Given the description of an element on the screen output the (x, y) to click on. 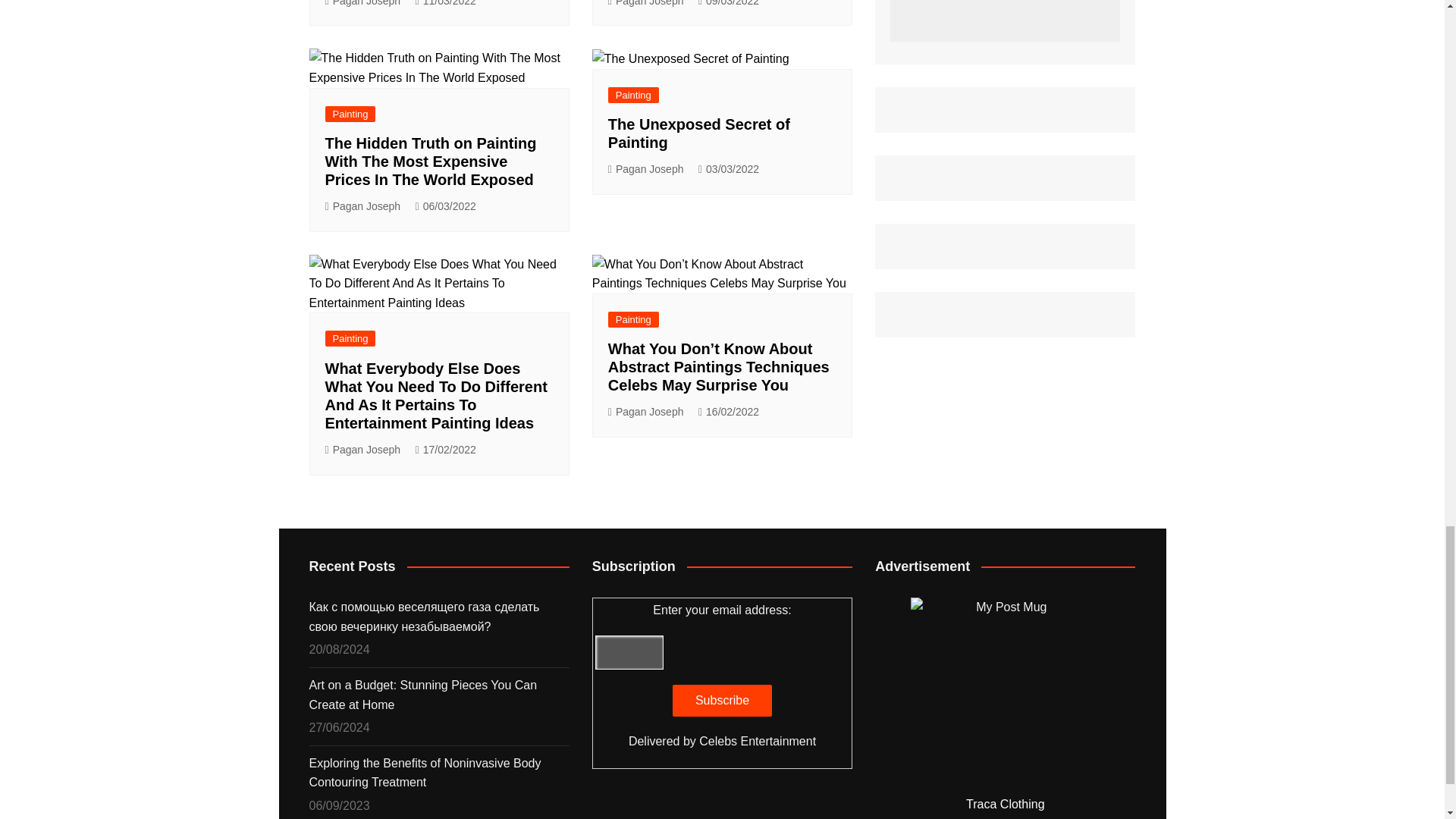
Painting (633, 94)
Pagan Joseph (646, 4)
The Unexposed Secret of Painting (690, 58)
My Post Mug (1005, 692)
Subscribe (721, 700)
Pagan Joseph (362, 4)
Painting (349, 114)
Pagan Joseph (362, 206)
